Given the description of an element on the screen output the (x, y) to click on. 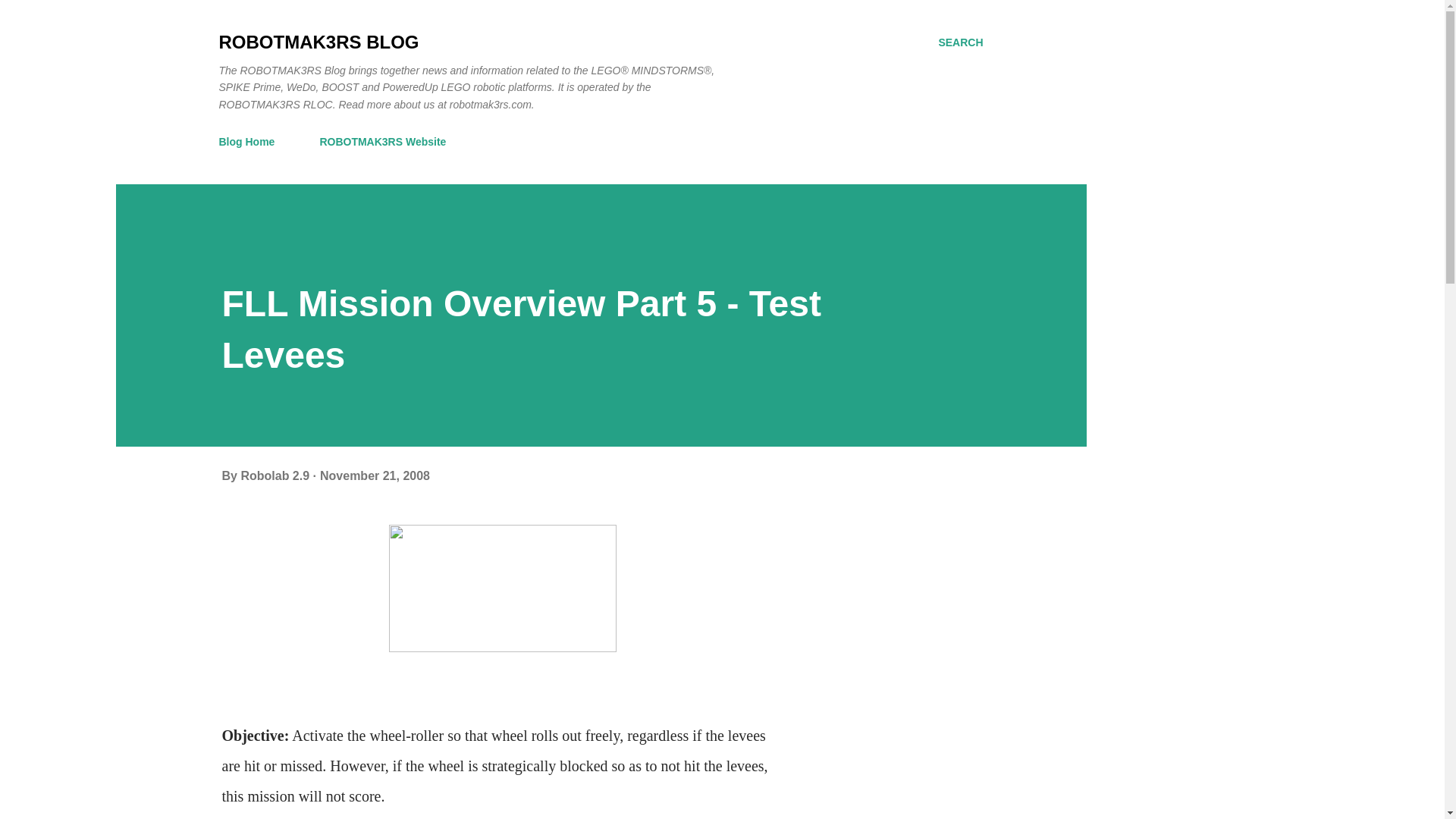
Robolab 2.9 (276, 475)
SEARCH (959, 42)
Blog Home (250, 141)
ROBOTMAK3RS BLOG (318, 41)
author profile (276, 475)
permanent link (374, 475)
ROBOTMAK3RS Website (382, 141)
November 21, 2008 (374, 475)
